Given the description of an element on the screen output the (x, y) to click on. 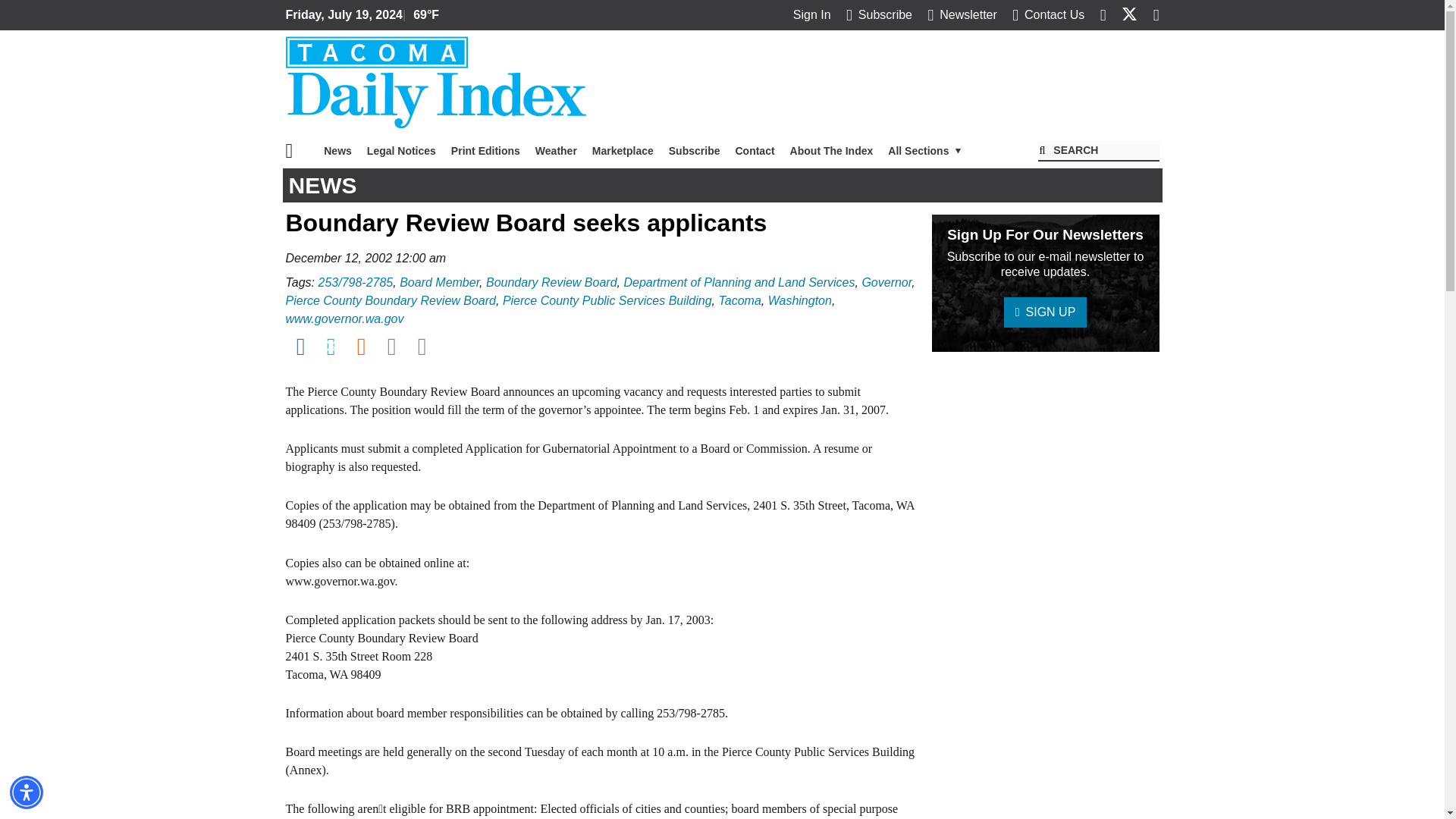
Contact Us (1047, 14)
Weather (556, 150)
Post to Twitter (330, 346)
About The Index (831, 150)
Post to Facebook (300, 346)
Post to Reddit (360, 346)
Marketplace (623, 150)
Sign In (812, 14)
Tacoma Daily Index (435, 81)
Find Us On Twitter (1129, 14)
News (337, 150)
Newsletter (961, 14)
Subscribe (878, 14)
Contact (753, 150)
Print Editions (485, 150)
